Given the description of an element on the screen output the (x, y) to click on. 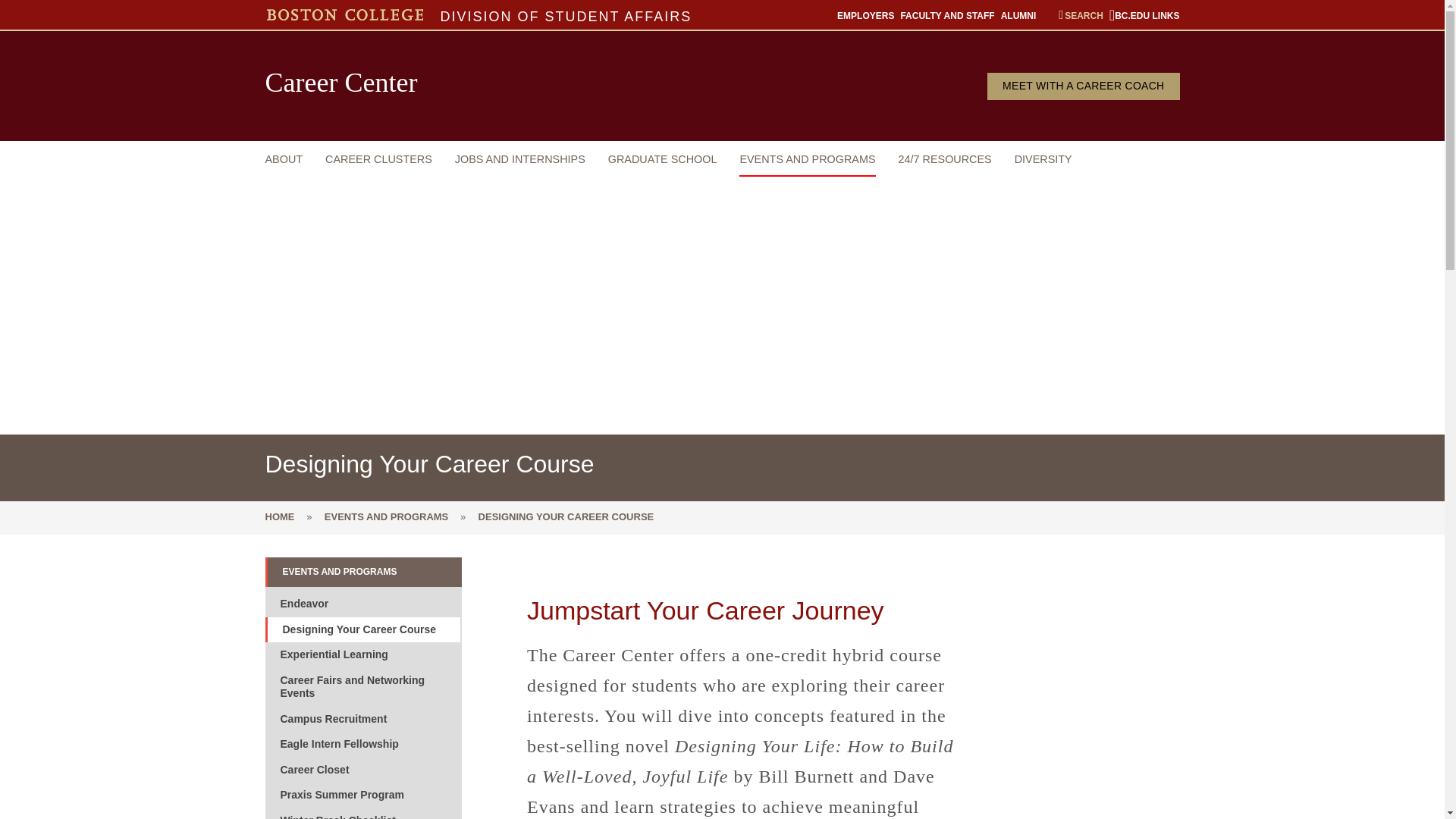
DIVISION OF STUDENT AFFAIRS (565, 16)
CAREER CLUSTERS (378, 158)
ALUMNI (1018, 15)
FACULTY AND STAFF (946, 15)
MEET WITH A CAREER COACH (1083, 85)
SEARCH (1080, 15)
EMPLOYERS (865, 15)
ABOUT (284, 158)
BC.EDU LINKS (1144, 15)
JOBS AND INTERNSHIPS (519, 158)
